Given the description of an element on the screen output the (x, y) to click on. 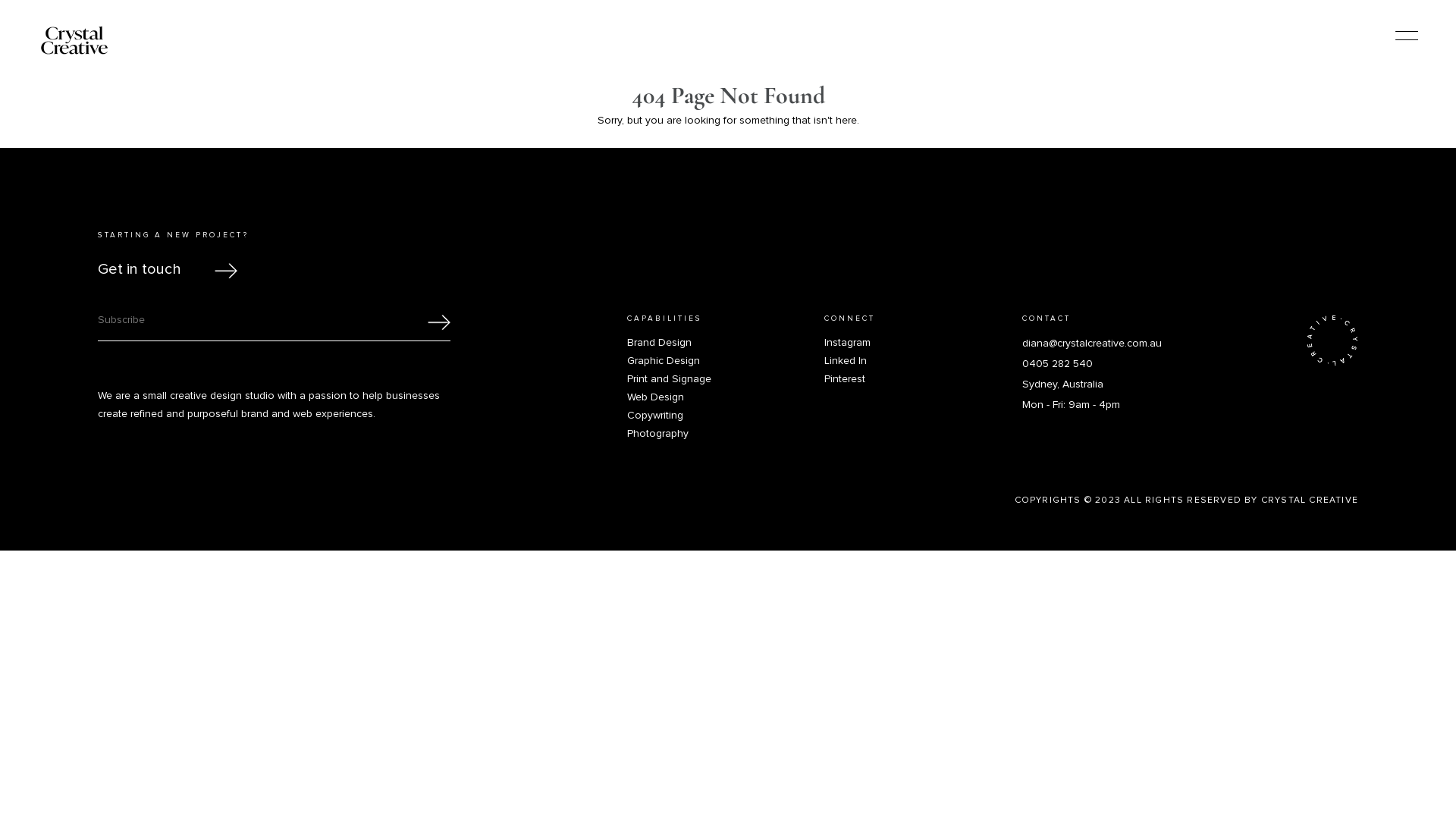
0405 282 540 Element type: text (1057, 363)
Pinterest Element type: text (922, 379)
Get in touch Element type: text (161, 269)
Copywriting Element type: text (725, 415)
Photography Element type: text (725, 433)
Web Design Element type: text (725, 397)
Graphic Design Element type: text (725, 360)
Instagram Element type: text (922, 342)
Brand Design Element type: text (725, 342)
Print and Signage Element type: text (725, 379)
Linked In Element type: text (922, 360)
Logo Element type: hover (74, 40)
diana@crystalcreative.com.au Element type: text (1091, 343)
